Given the description of an element on the screen output the (x, y) to click on. 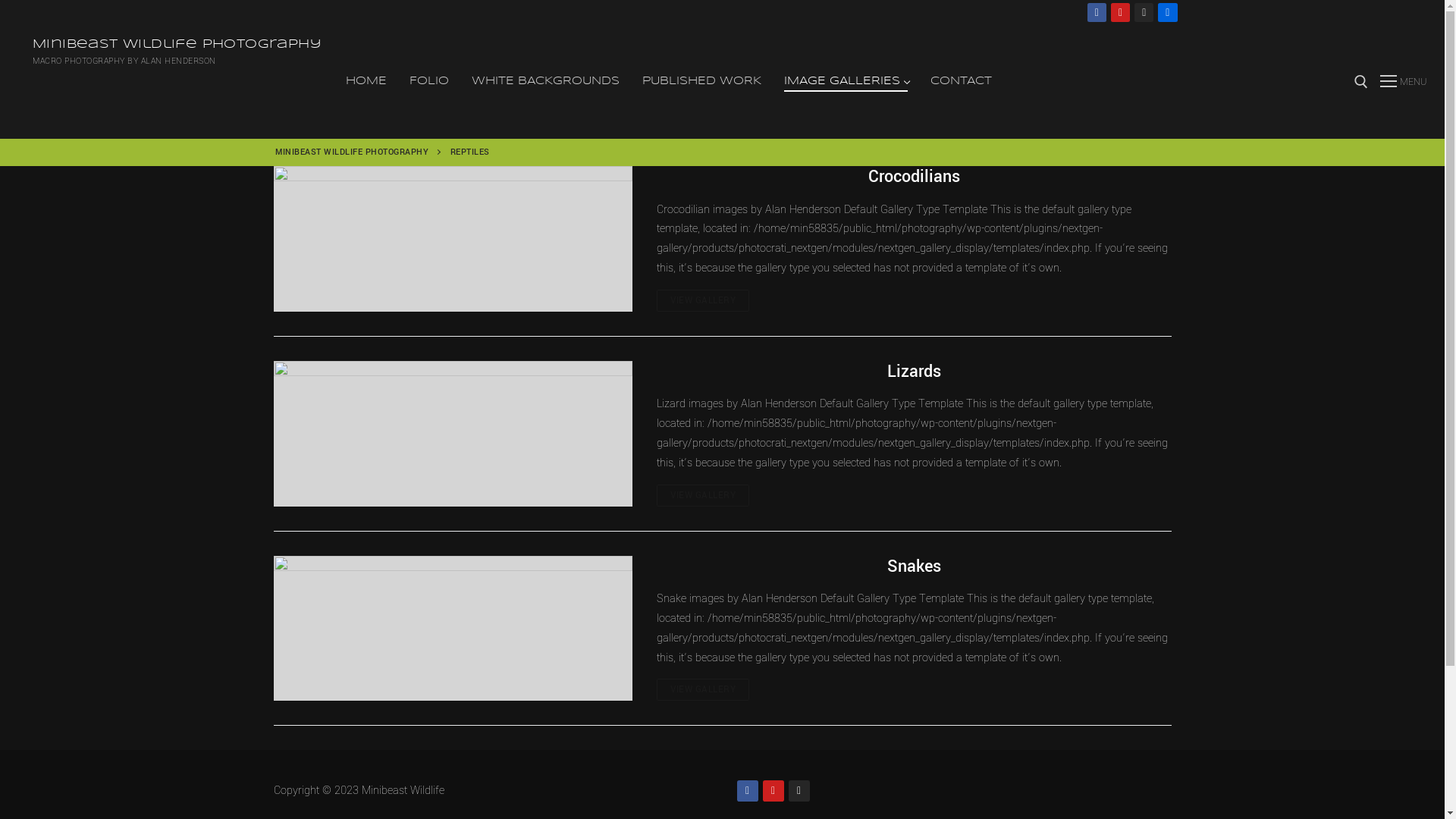
REPTILES Element type: text (469, 151)
PUBLISHED WORK Element type: text (701, 81)
Snakes Element type: hover (452, 628)
MINIBEAST WILDLIFE PHOTOGRAPHY Element type: text (351, 151)
VIEW GALLERY Element type: text (702, 300)
CONTACT Element type: text (960, 81)
Youtube Element type: hover (772, 790)
Instagram Element type: hover (1144, 12)
Crocodilians Element type: hover (452, 238)
WHITE BACKGROUNDS Element type: text (545, 81)
Facebook Element type: hover (1096, 12)
Lizards Element type: text (913, 371)
IMAGE GALLERIES
  Element type: text (845, 81)
Lizards Element type: hover (452, 433)
HOME Element type: text (365, 81)
FOLIO Element type: text (428, 81)
Facebook Element type: hover (746, 790)
YouTube Element type: hover (1120, 12)
MENU Element type: text (1403, 81)
Snakes Element type: text (913, 566)
Crocodilians Element type: text (913, 177)
VIEW GALLERY Element type: text (702, 495)
Minibeast Wildlife Photography Element type: text (176, 44)
Instagram Element type: hover (798, 790)
VIEW GALLERY Element type: text (702, 689)
Flickr Element type: hover (1167, 12)
